Given the description of an element on the screen output the (x, y) to click on. 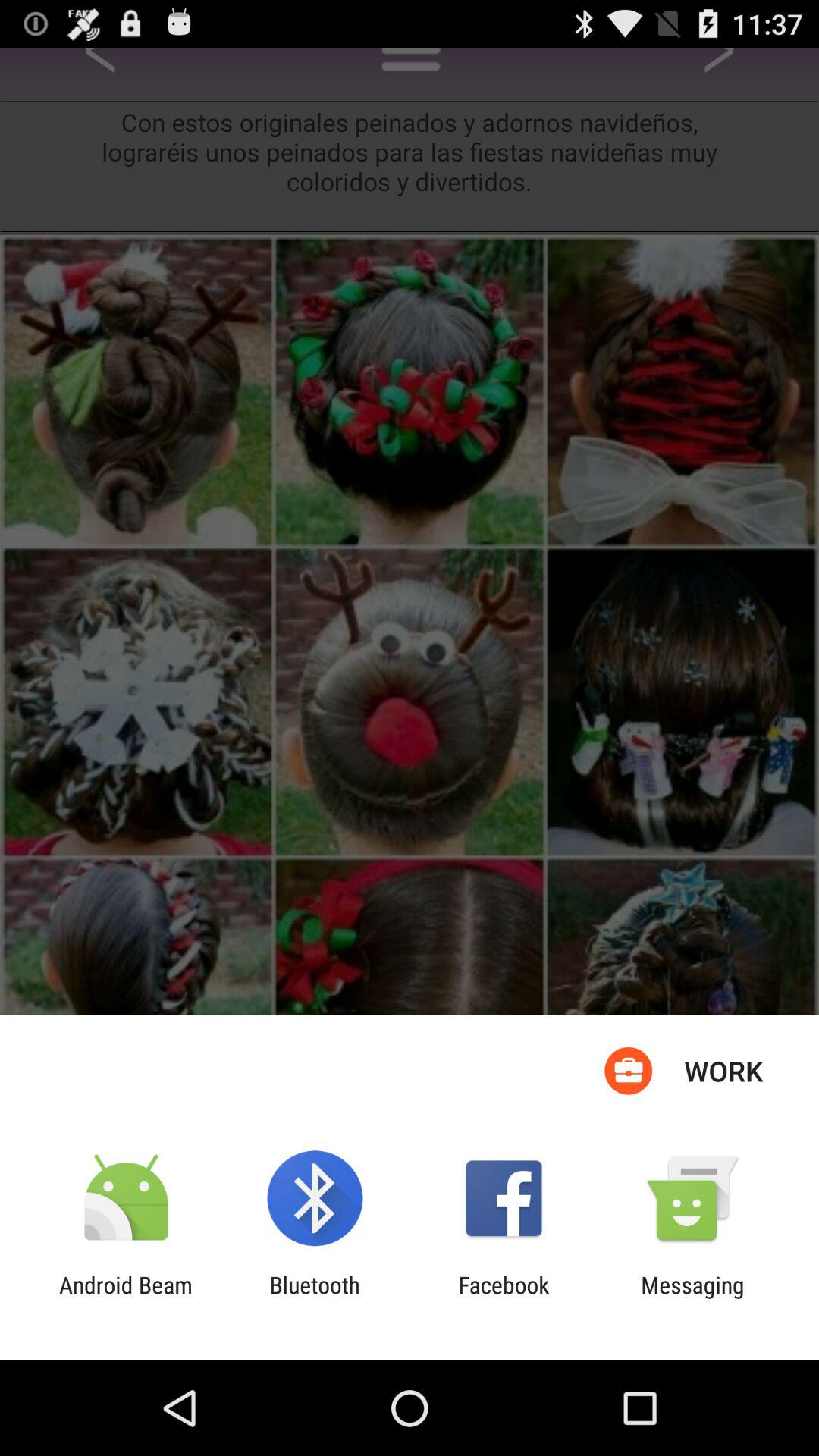
click the icon to the left of the facebook app (314, 1298)
